Given the description of an element on the screen output the (x, y) to click on. 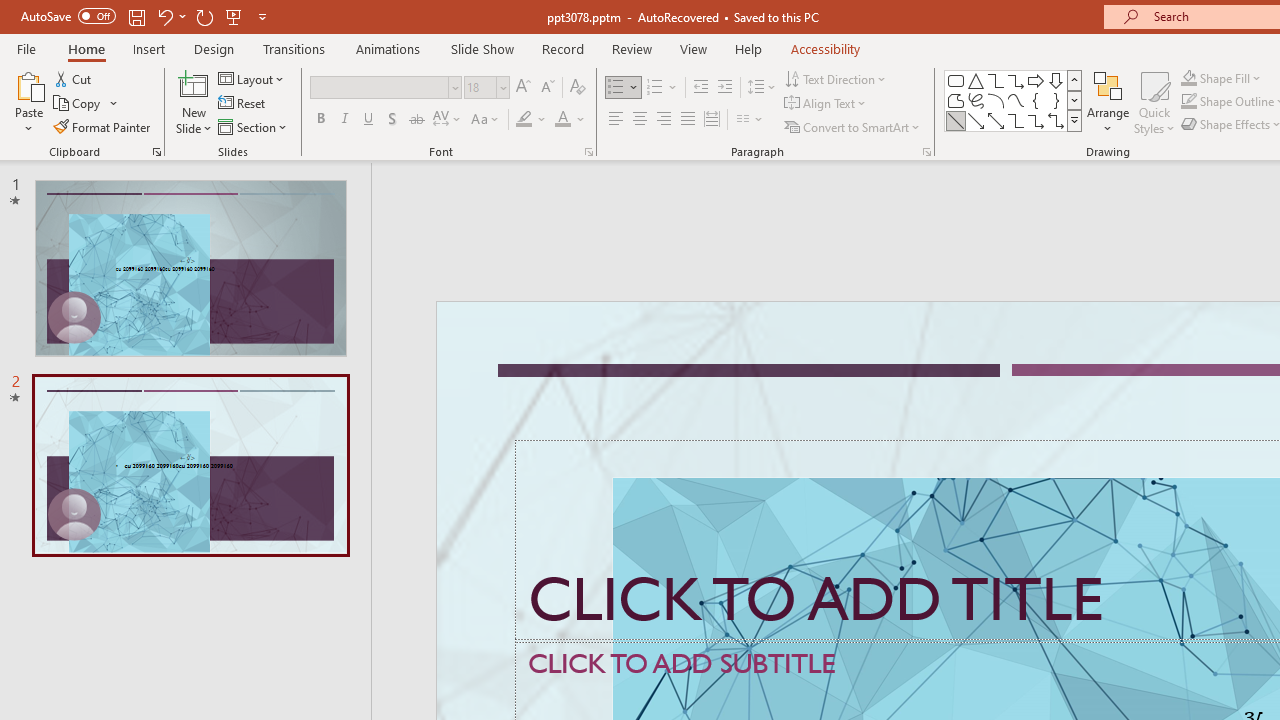
Shape Fill Dark Green, Accent 2 (1188, 78)
